Given the description of an element on the screen output the (x, y) to click on. 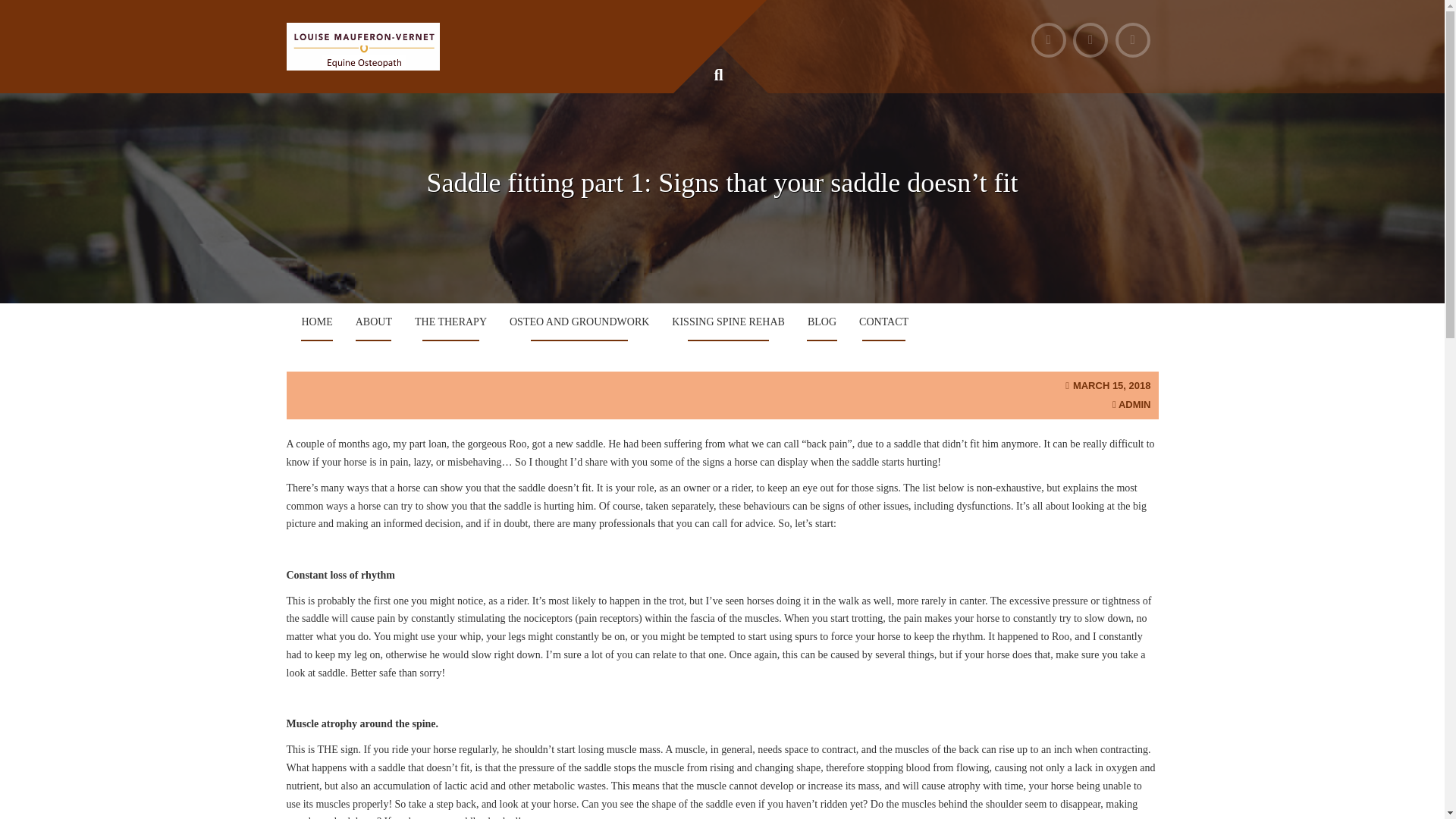
THE THERAPY (450, 322)
BLOG (821, 322)
CONTACT (883, 322)
MARCH 15, 2018 (1112, 385)
KISSING SPINE REHAB (728, 322)
HOME (316, 322)
ADMIN (1134, 404)
ABOUT (373, 322)
OSTEO AND GROUNDWORK (579, 322)
